Given the description of an element on the screen output the (x, y) to click on. 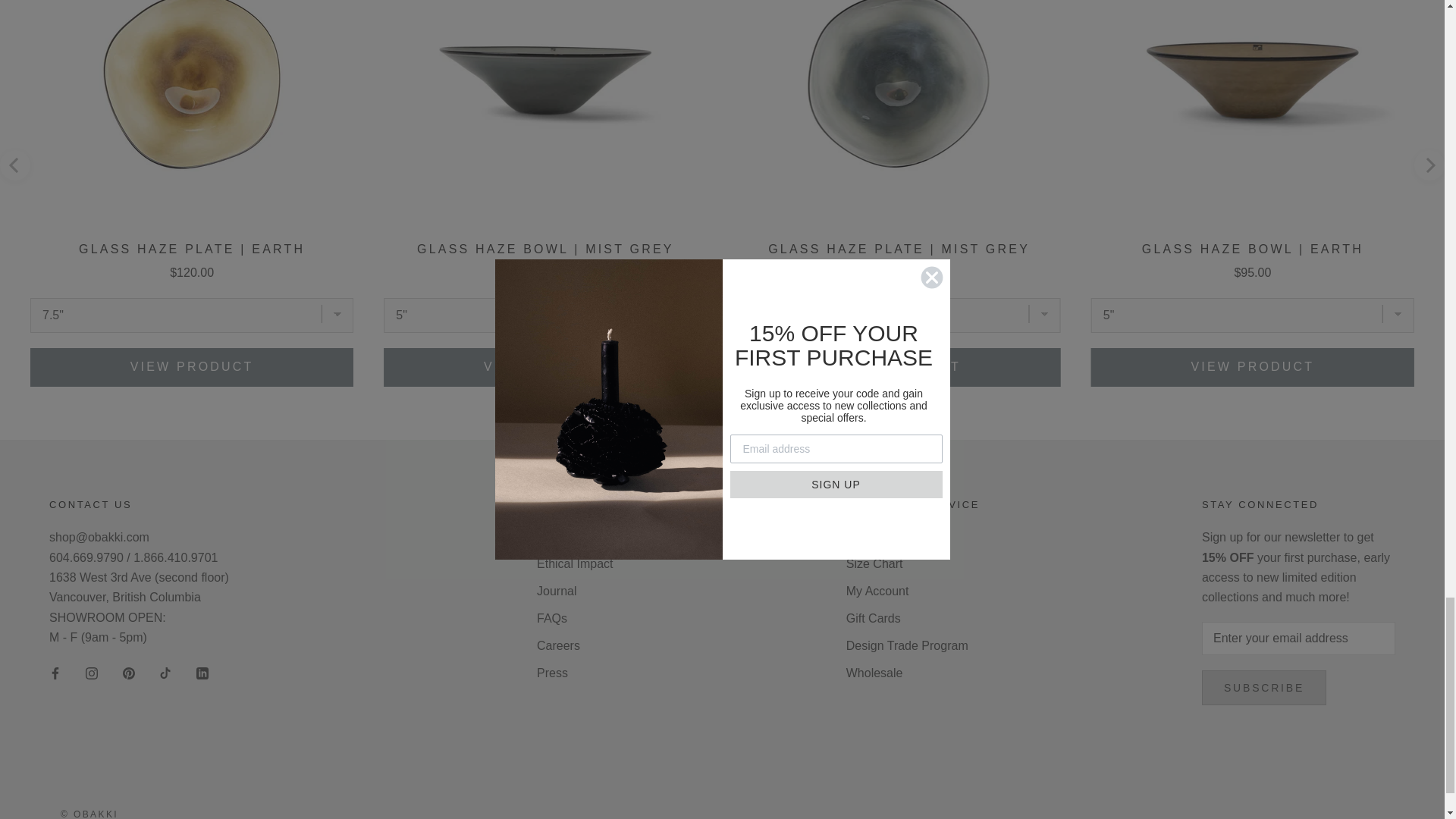
Select product variant (1251, 315)
Select product variant (897, 315)
Select product variant (545, 315)
Select product variant (191, 315)
